Given the description of an element on the screen output the (x, y) to click on. 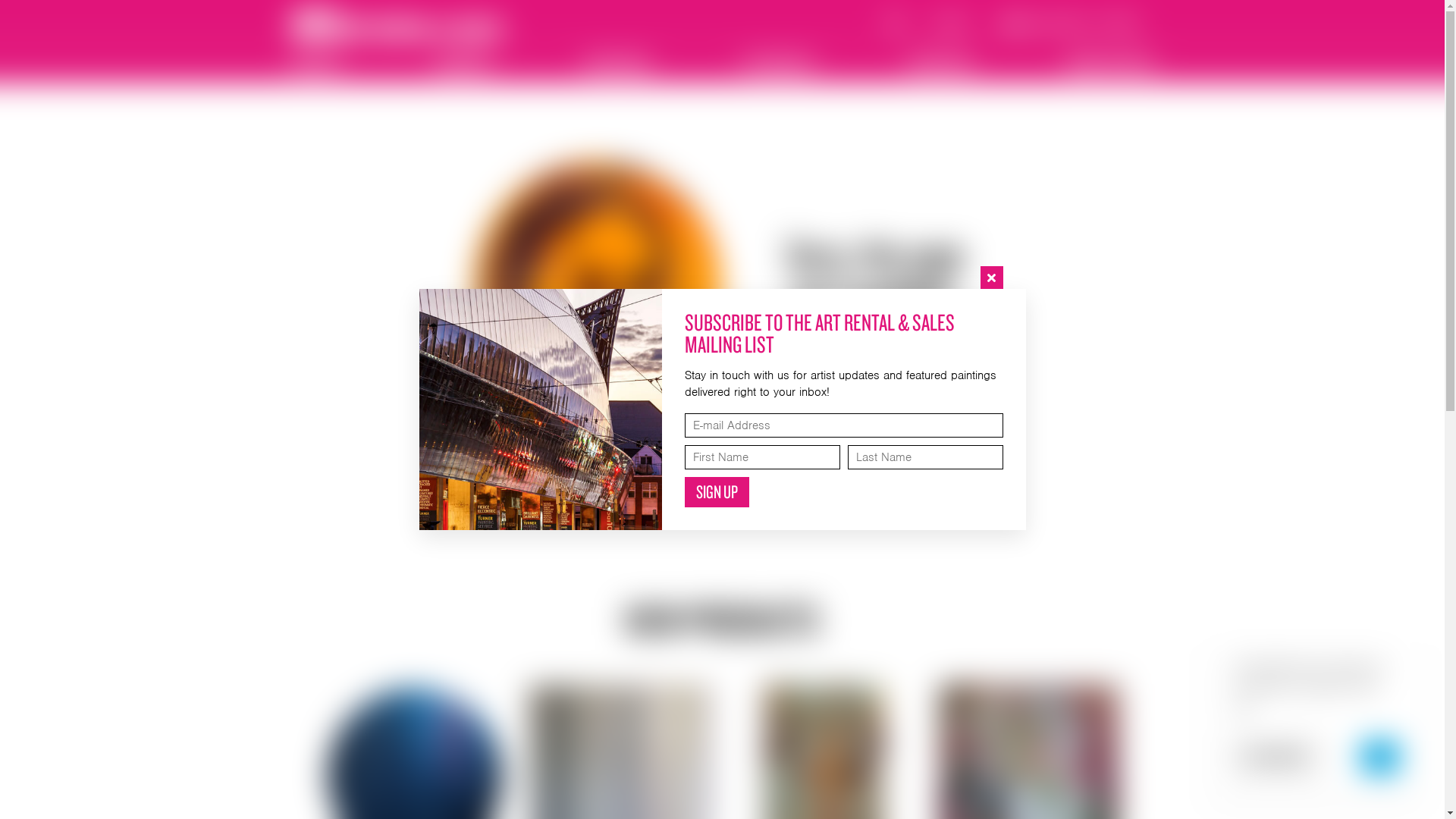
LEARN MORE Element type: text (1275, 756)
BACK TO RENTAL.AGO Element type: text (874, 386)
ABSTRACT Element type: text (315, 64)
OK Element type: text (1380, 756)
LANDSCAPE Element type: text (462, 64)
MIXED MEDIA Element type: text (616, 64)
SIGN IN Element type: text (951, 23)
SELECTIONS (
0 ITEMS
) Element type: text (1071, 23)
WATERSCAPE Element type: text (940, 64)
PHOTOGRAPHY Element type: text (778, 64)
WORKS ON PAPER Element type: text (1110, 64)
Sign Up Element type: text (716, 491)
